Given the description of an element on the screen output the (x, y) to click on. 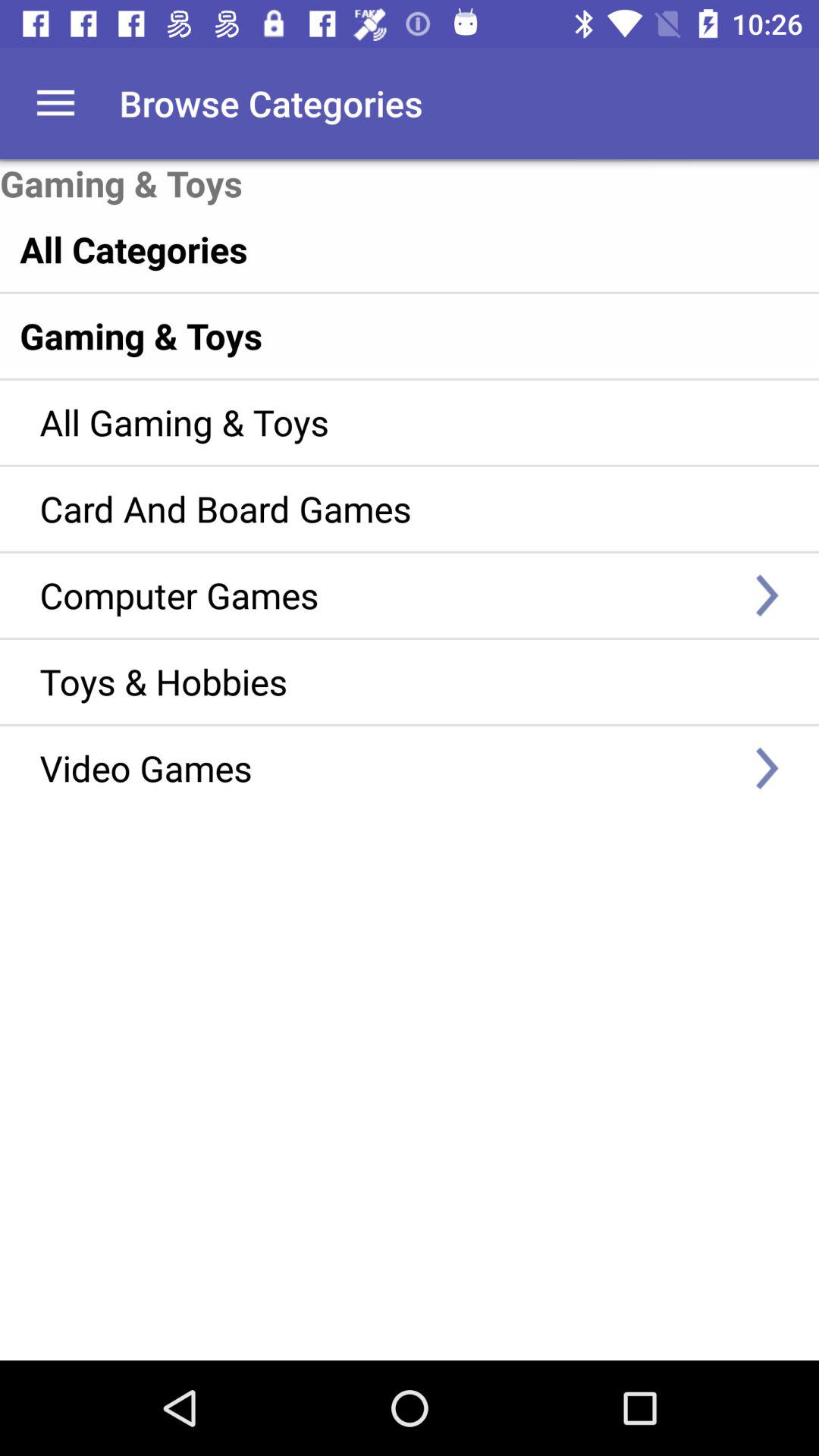
swipe to the video games (387, 767)
